Given the description of an element on the screen output the (x, y) to click on. 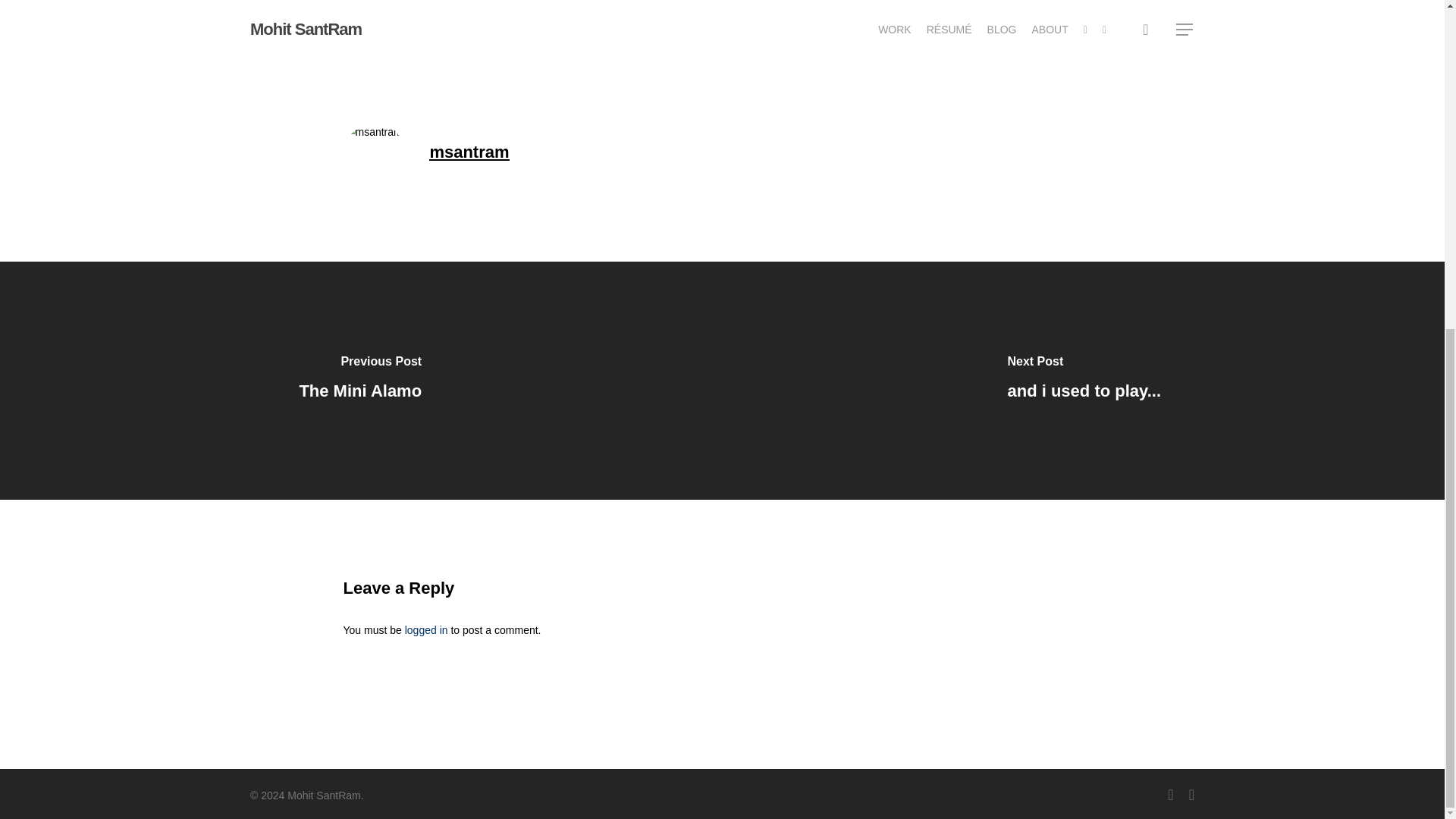
msantram (468, 151)
logged in (426, 630)
mojo! (1024, 5)
